Given the description of an element on the screen output the (x, y) to click on. 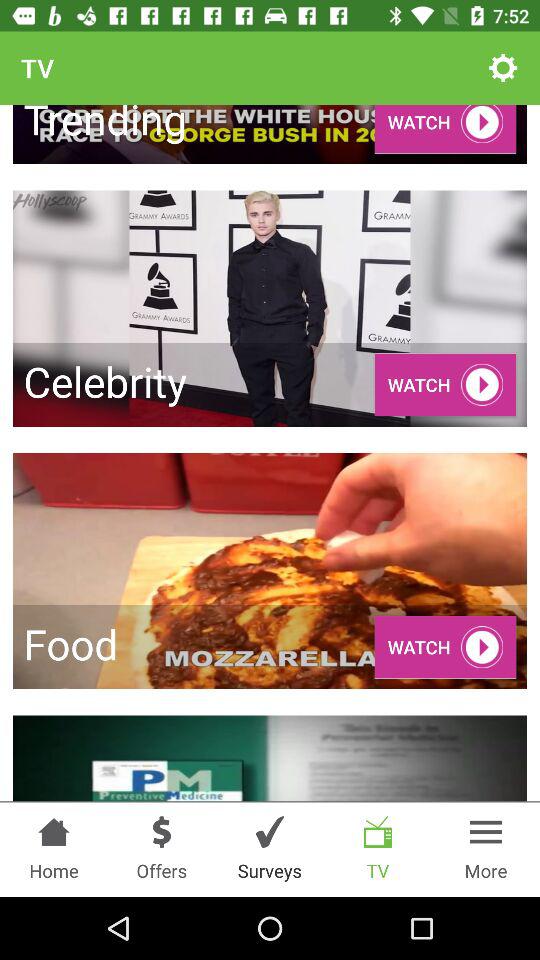
click on more option (486, 849)
click on the offers icon (161, 831)
select the image with the text food (269, 571)
click on icon above surveys (269, 831)
click on the watch in the first row (445, 128)
click on the icon above the text tv (377, 831)
select the first image with the text trending in the page (269, 134)
